Given the description of an element on the screen output the (x, y) to click on. 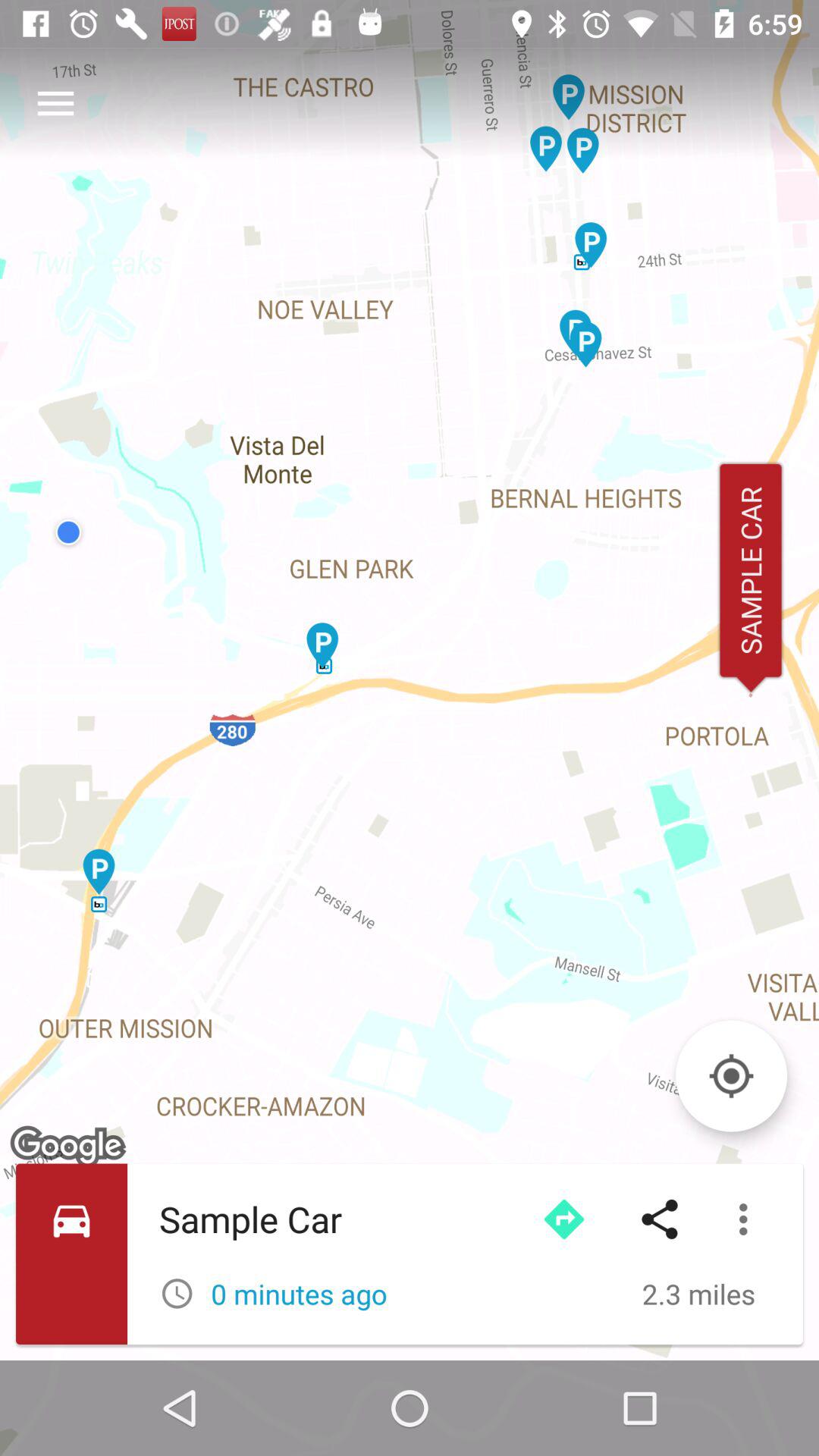
select the option which is below google on a page (409, 1253)
click on the direction symbol which is left to the share button (563, 1219)
select menu icon which is at the right corner of the page (747, 1219)
click on google (69, 1147)
